Given the description of an element on the screen output the (x, y) to click on. 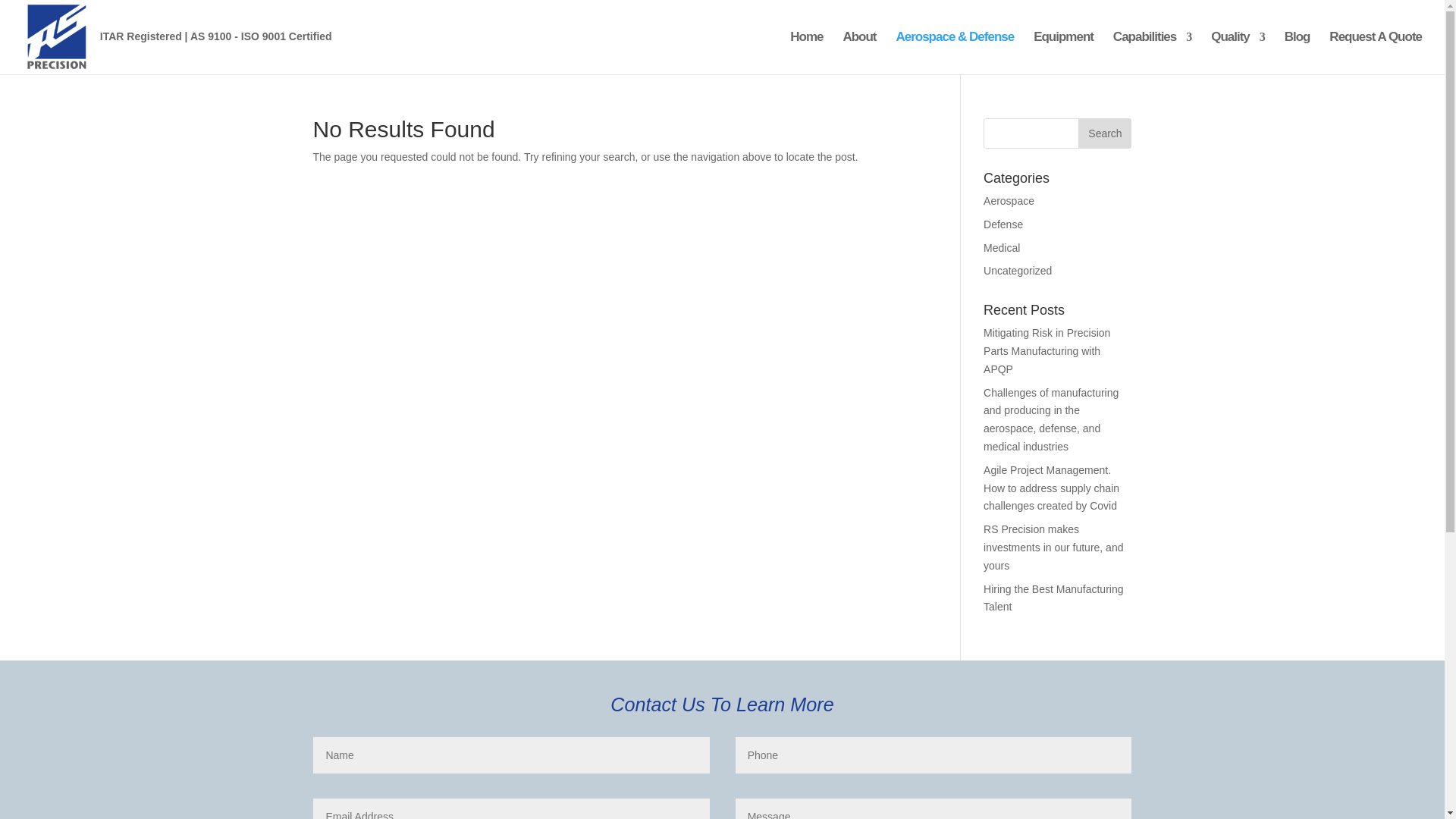
Uncategorized (1017, 270)
Capabilities (1152, 52)
Search (1104, 132)
Request A Quote (1375, 52)
Search (1104, 132)
Quality (1238, 52)
Equipment (1063, 52)
Defense (1003, 224)
Aerospace (1008, 200)
Mitigating Risk in Precision Parts Manufacturing with APQP (1046, 350)
RS Precision makes investments in our future, and yours (1053, 547)
Medical (1002, 247)
